Given the description of an element on the screen output the (x, y) to click on. 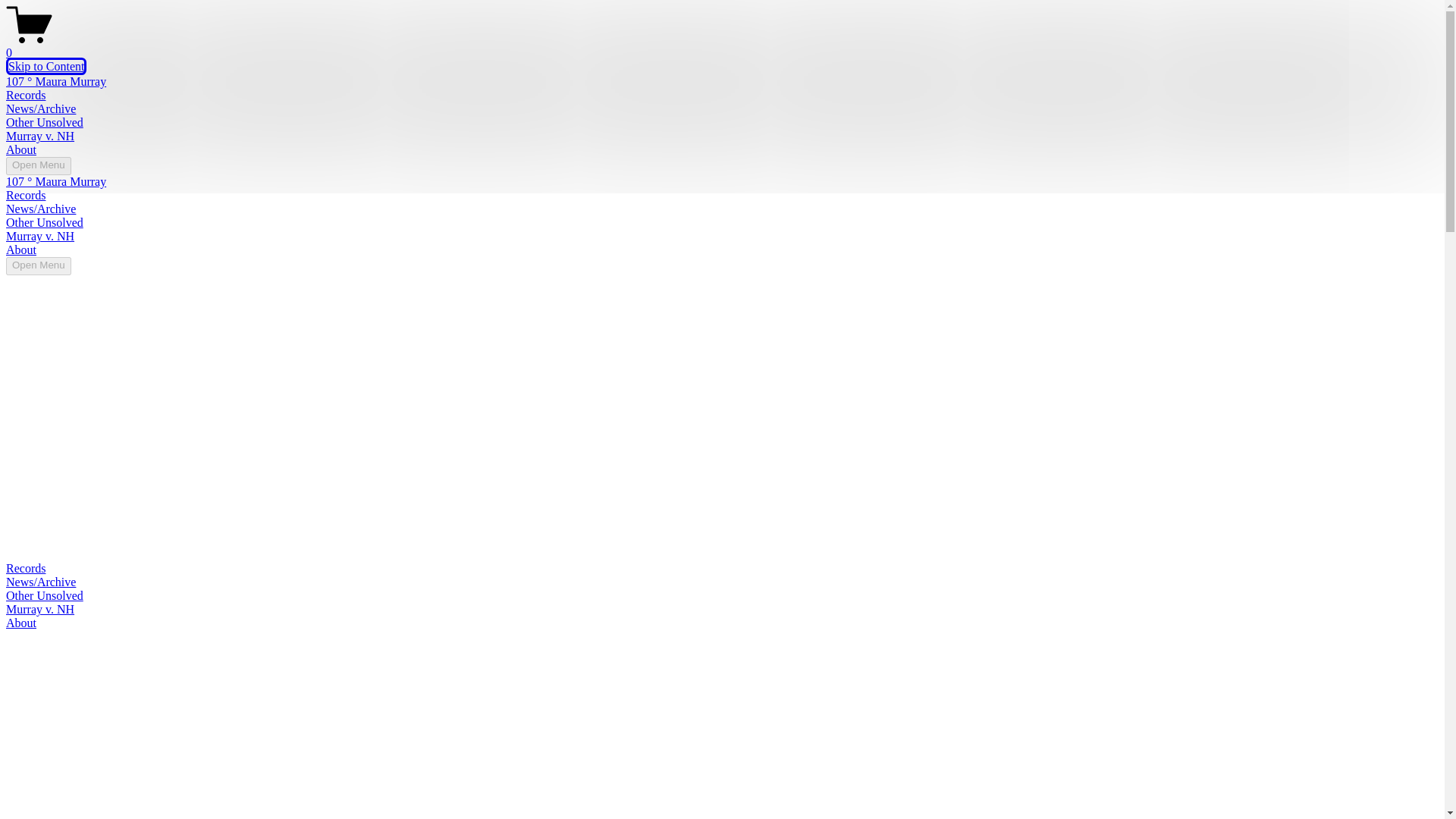
About (20, 249)
Skip to Content (45, 66)
Murray v. NH (39, 135)
Records (25, 94)
Open Menu (38, 266)
Other Unsolved (43, 122)
Records (25, 195)
Murray v. NH (39, 236)
Other Unsolved (43, 222)
About (20, 149)
Open Menu (38, 166)
